Given the description of an element on the screen output the (x, y) to click on. 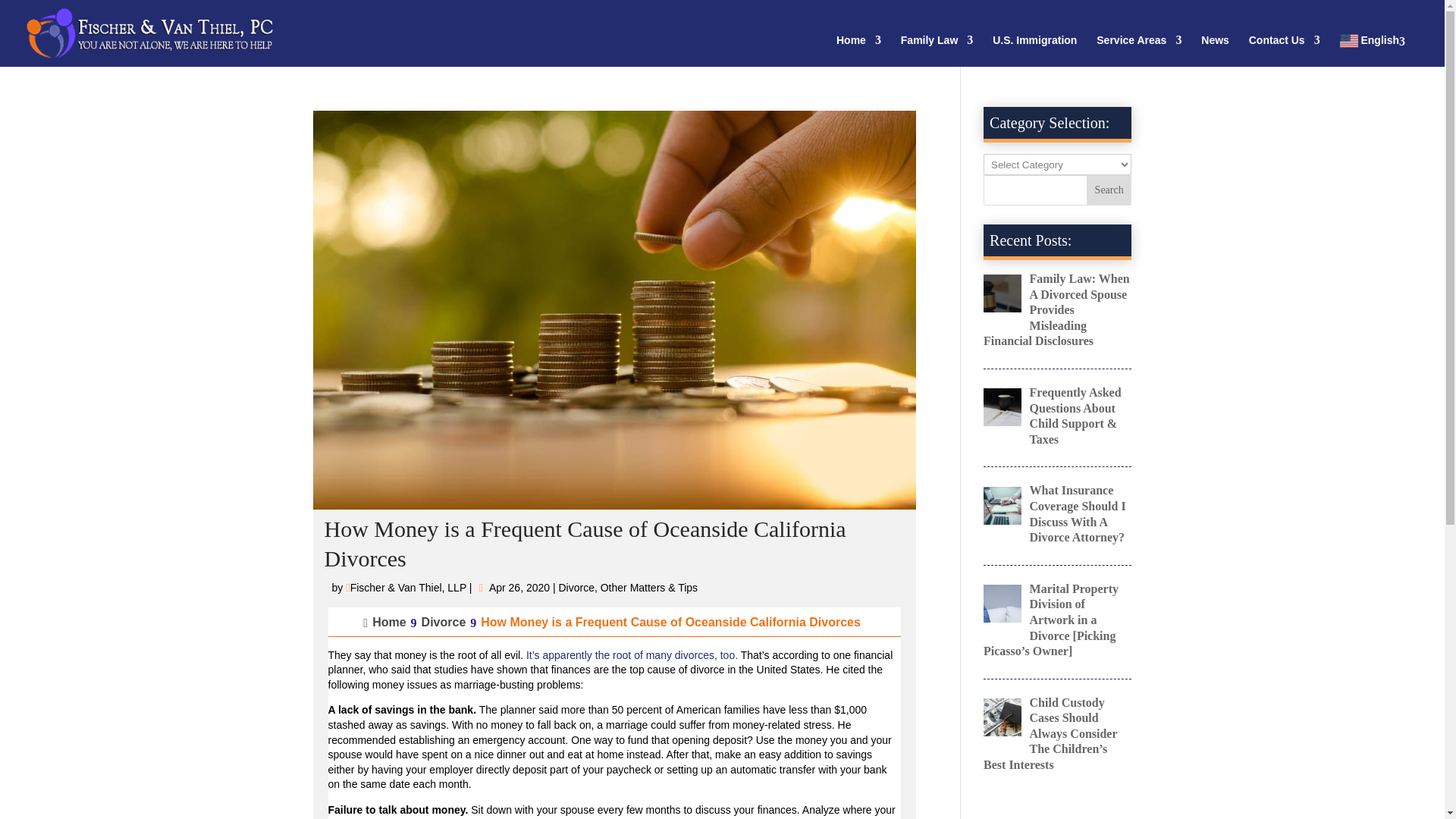
Contact Us (1284, 50)
Family Law (936, 50)
U.S. Immigration (1034, 50)
Home (857, 50)
Search (1109, 190)
Service Areas (1138, 50)
